Given the description of an element on the screen output the (x, y) to click on. 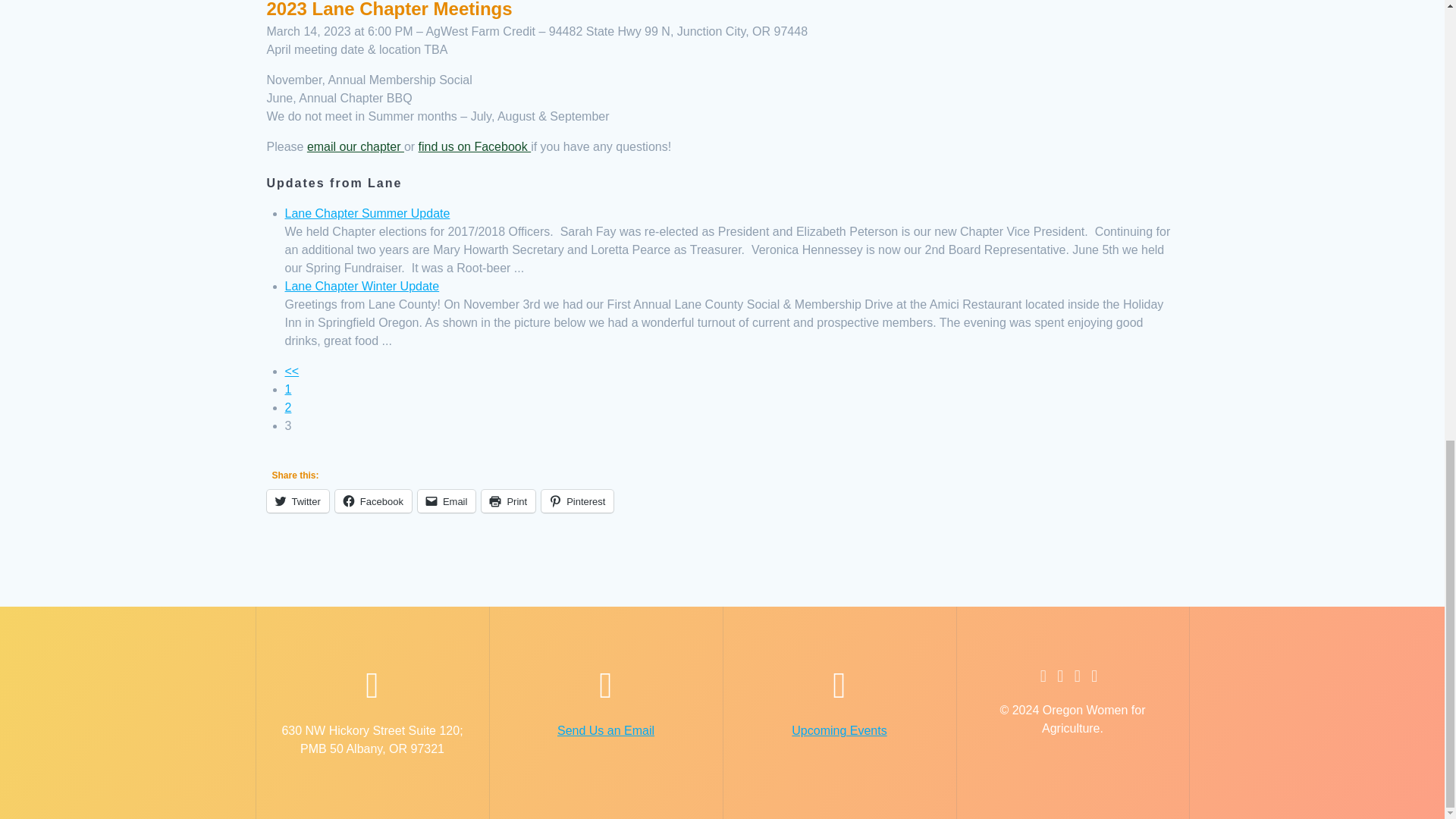
Click to email a link to a friend (446, 500)
Click to share on Facebook (373, 500)
2 (292, 370)
Click to share on Pinterest (576, 500)
Click to print (508, 500)
Click to share on Twitter (297, 500)
